Given the description of an element on the screen output the (x, y) to click on. 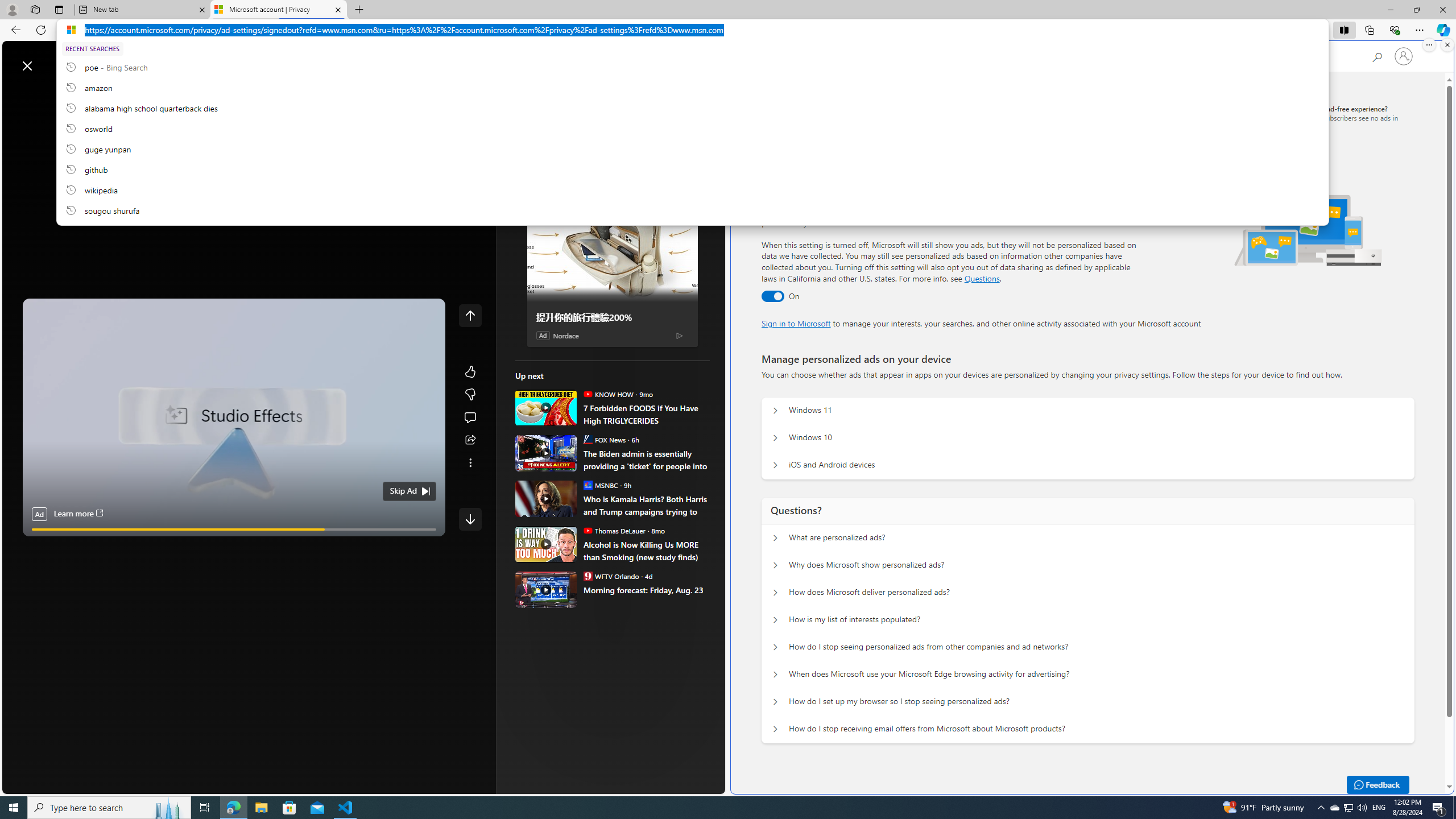
github, recent searches from history (691, 168)
Learn more (77, 513)
7 Forbidden FOODS if You Have High TRIGLYCERIDES (545, 407)
Class: control icon-only (469, 315)
Close split screen. (1447, 45)
More options. (1428, 45)
Class: button-glyph (16, 92)
Questions? What are personalized ads? (775, 537)
